Given the description of an element on the screen output the (x, y) to click on. 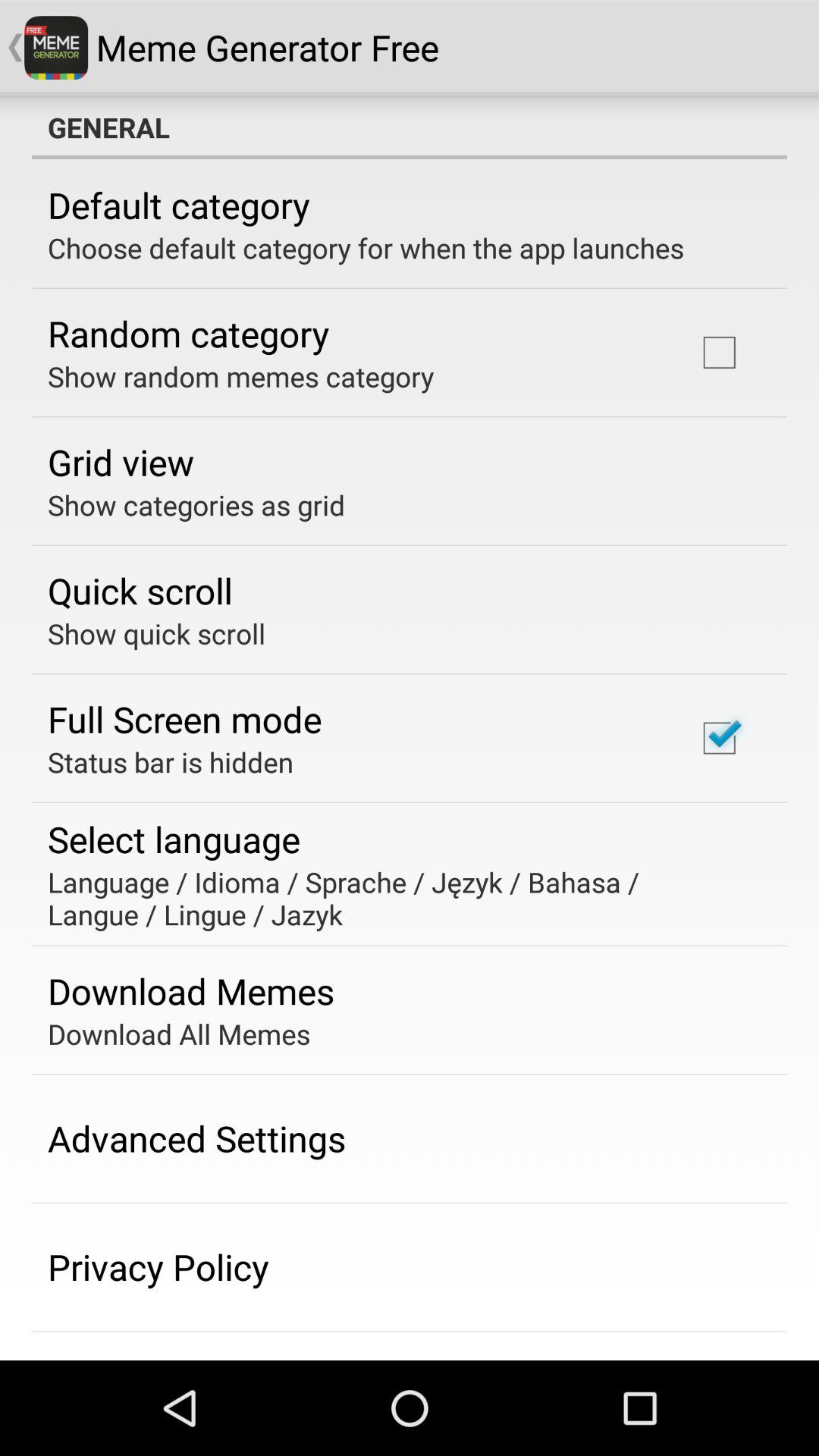
launch the show random memes item (240, 376)
